Given the description of an element on the screen output the (x, y) to click on. 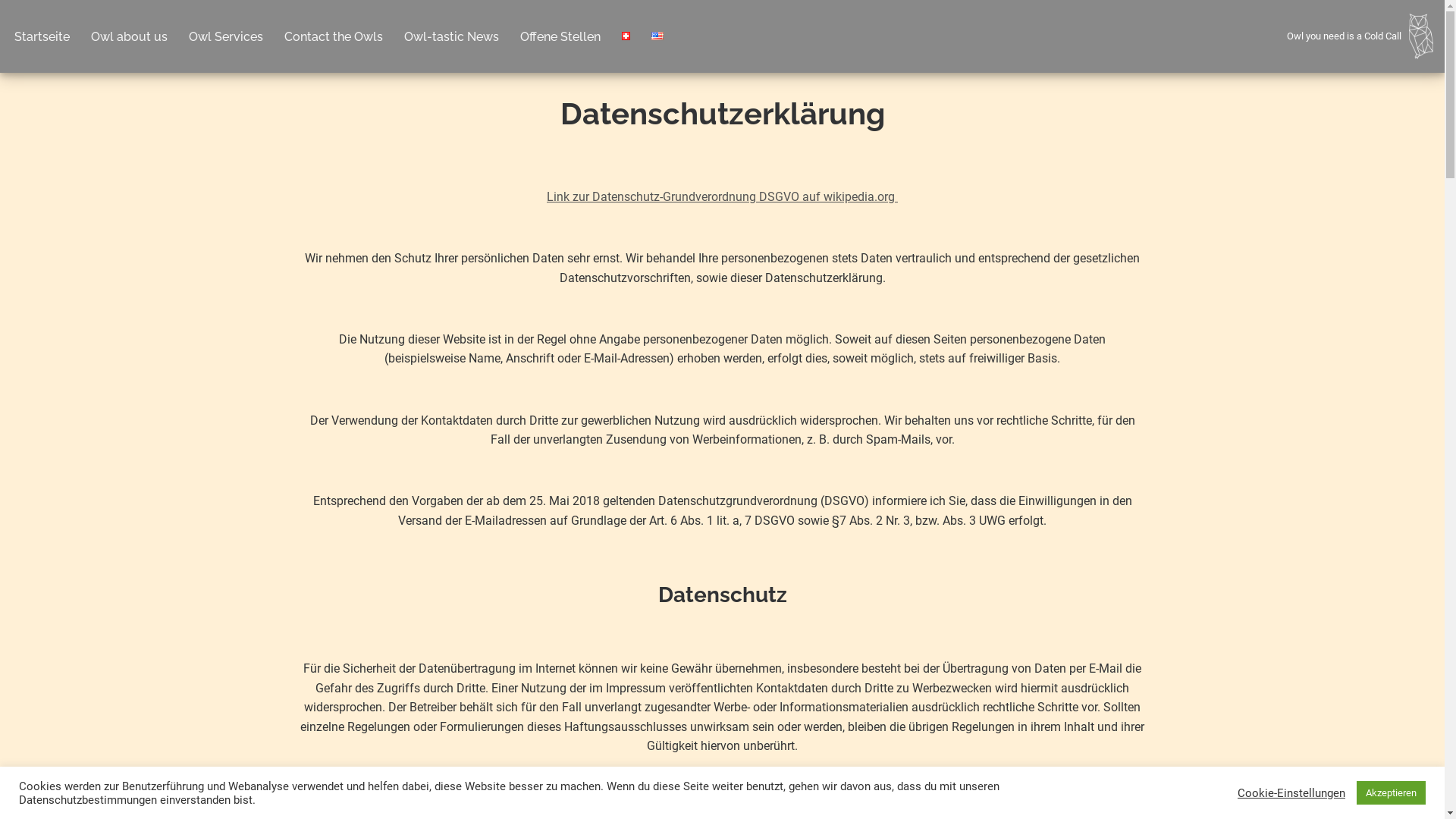
g Element type: text (891, 196)
Offene Stellen Element type: text (560, 36)
Owl about us Element type: text (129, 36)
Akzeptieren Element type: text (1390, 792)
Cookie-Einstellungen Element type: text (1291, 792)
Owl you need is a Cold Call Element type: text (1359, 36)
Owl Services Element type: text (225, 36)
Startseite Element type: text (41, 36)
Contact the Owls Element type: text (333, 36)
Link zur Datenschutz-Grundverordnung DSGVO auf wikipedia.or Element type: text (717, 196)
Zum Inhalt Element type: text (11, 31)
Owl-tastic News Element type: text (451, 36)
  Element type: text (895, 196)
